Given the description of an element on the screen output the (x, y) to click on. 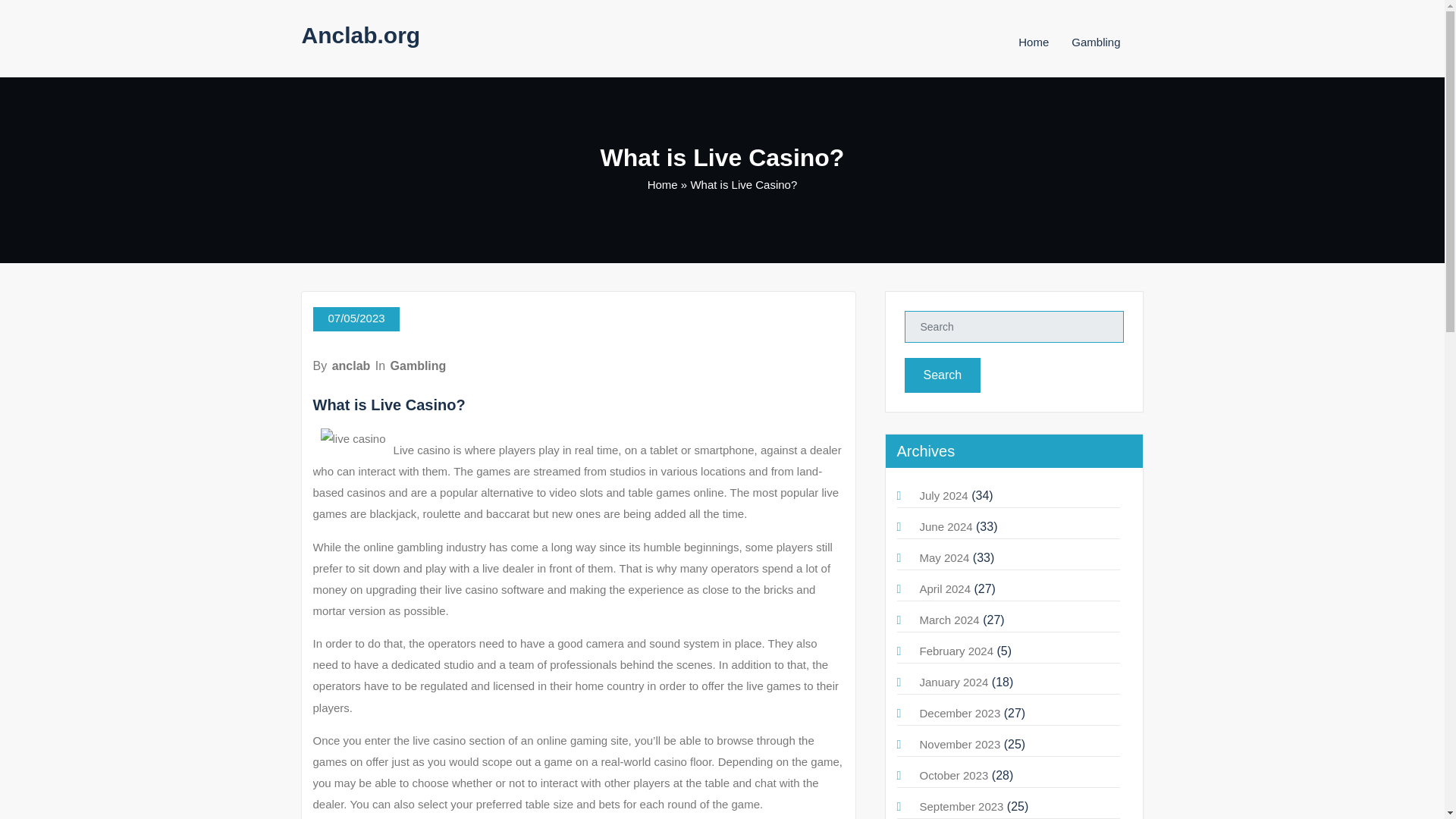
Anclab.org (360, 34)
September 2023 (960, 806)
November 2023 (959, 744)
March 2024 (948, 619)
January 2024 (953, 681)
October 2023 (953, 775)
anclab (351, 365)
Search (941, 375)
June 2024 (945, 526)
April 2024 (944, 588)
Home (1032, 41)
Home (662, 184)
December 2023 (959, 712)
Gambling (418, 365)
February 2024 (955, 650)
